Given the description of an element on the screen output the (x, y) to click on. 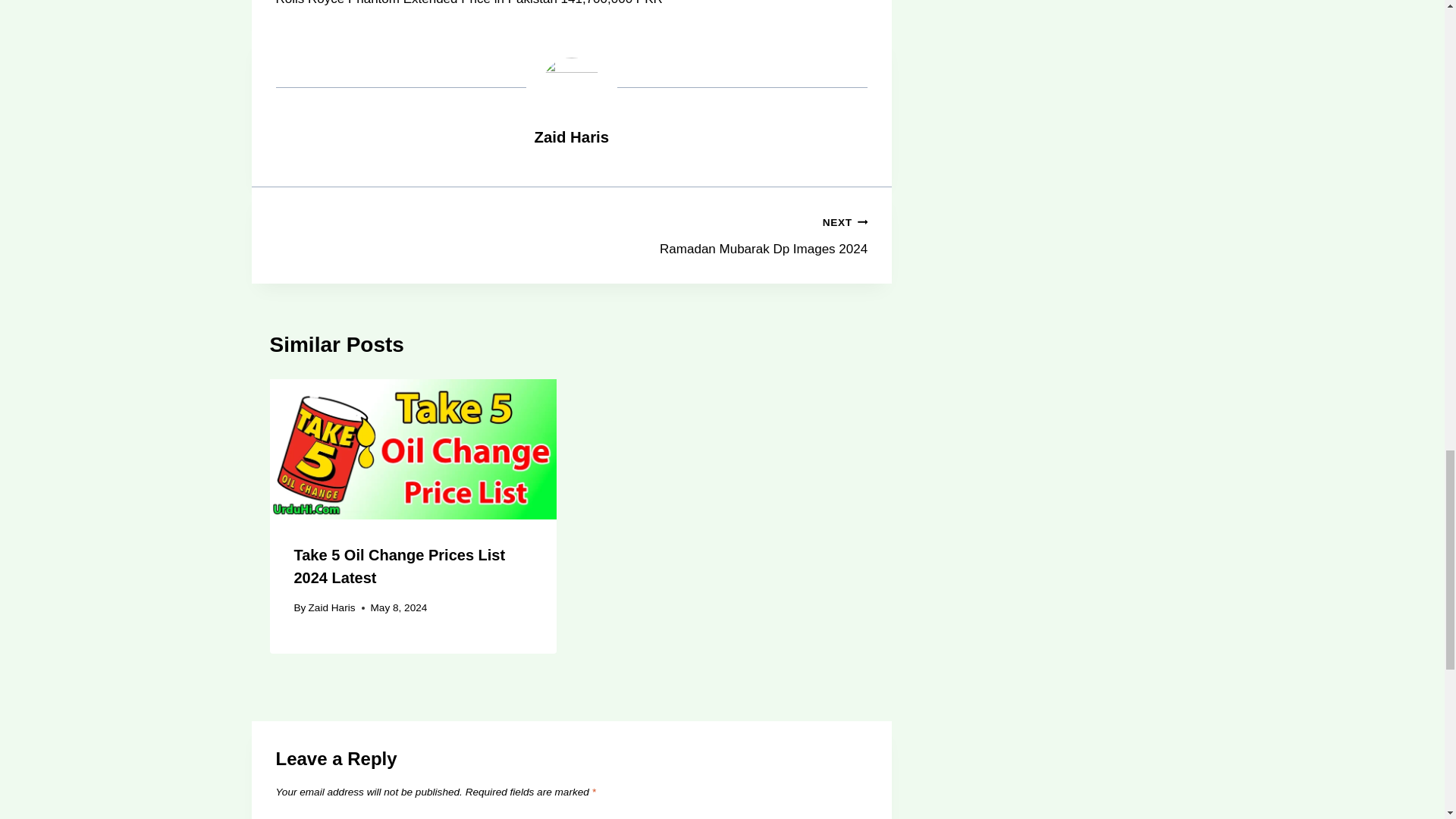
Posts by Zaid Haris (572, 136)
